Given the description of an element on the screen output the (x, y) to click on. 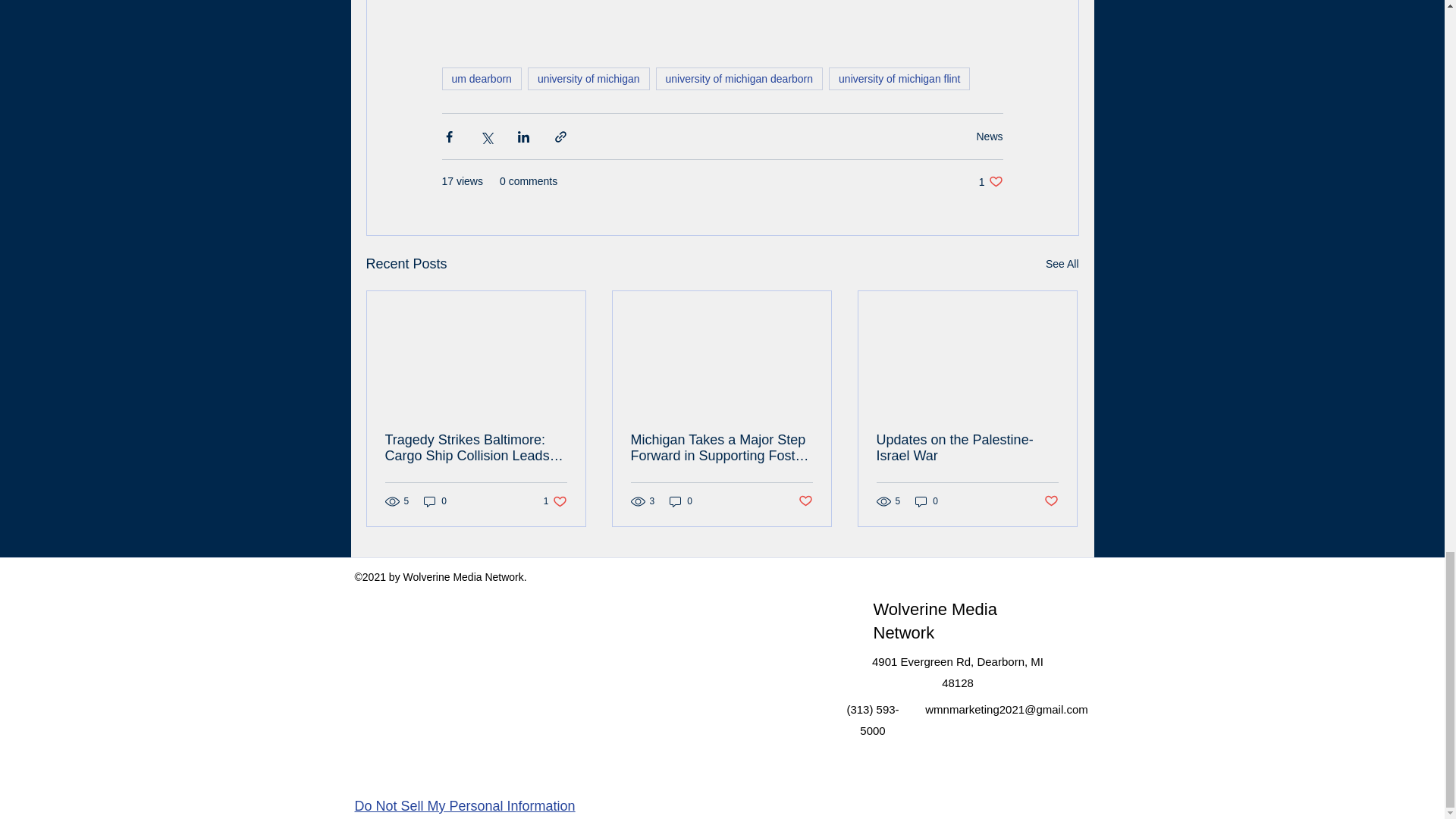
See All (990, 181)
university of michigan (1061, 264)
News (588, 78)
university of michigan flint (989, 136)
0 (898, 78)
um dearborn (681, 501)
0 (481, 78)
university of michigan dearborn (555, 501)
